Given the description of an element on the screen output the (x, y) to click on. 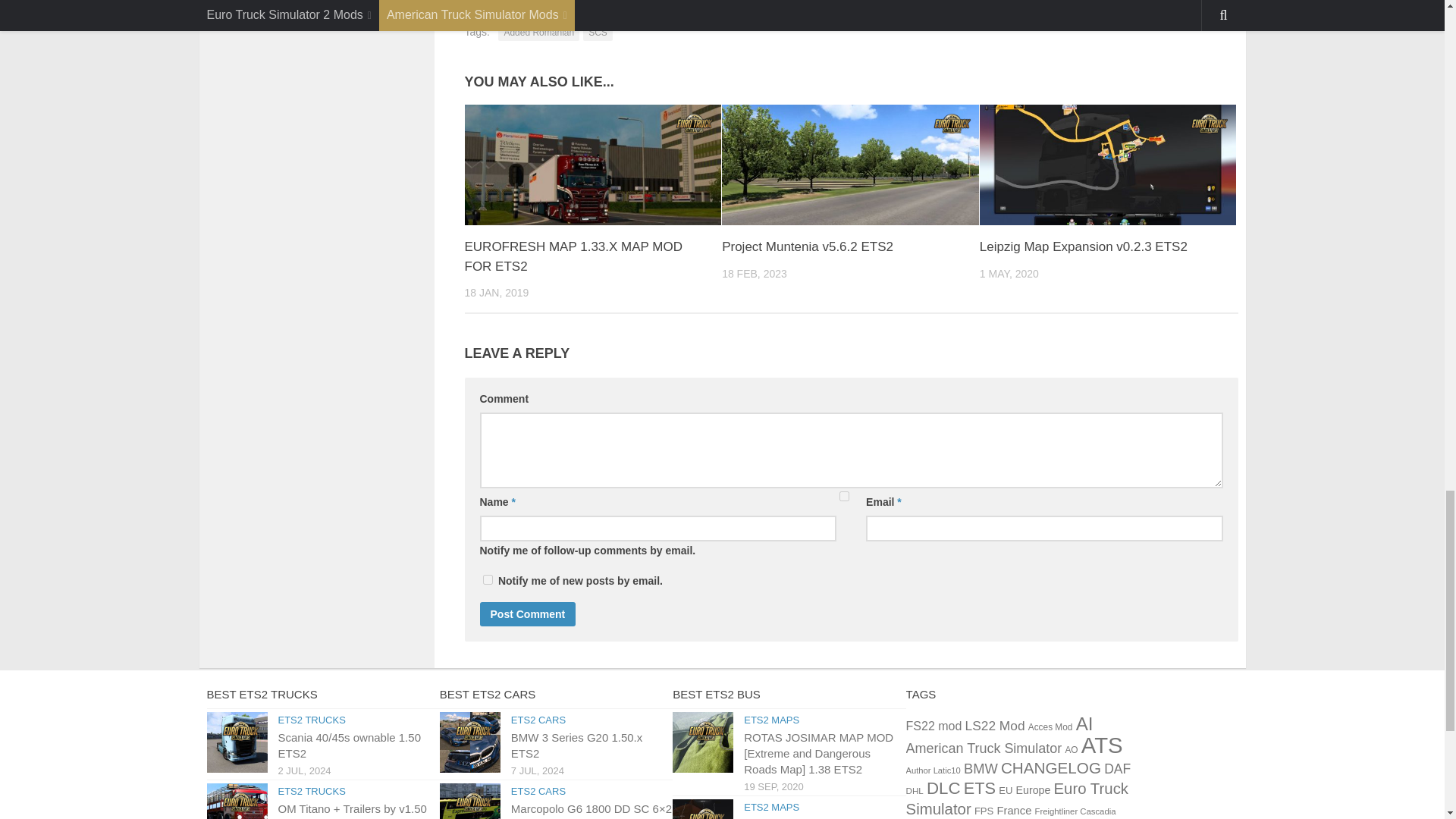
subscribe (486, 579)
EUROFRESH MAP 1.33.X MAP MOD FOR ETS2 (592, 165)
Post Comment (527, 613)
Leipzig Map Expansion v0.2.3 ETS2 (1107, 165)
EUROFRESH MAP 1.33.X MAP MOD FOR ETS2 (573, 256)
subscribe (844, 496)
Added Romanian (538, 32)
Project Muntenia v5.6.2 ETS2 (850, 165)
Project Muntenia v5.6.2 ETS2 (807, 246)
SCS (597, 32)
